Given the description of an element on the screen output the (x, y) to click on. 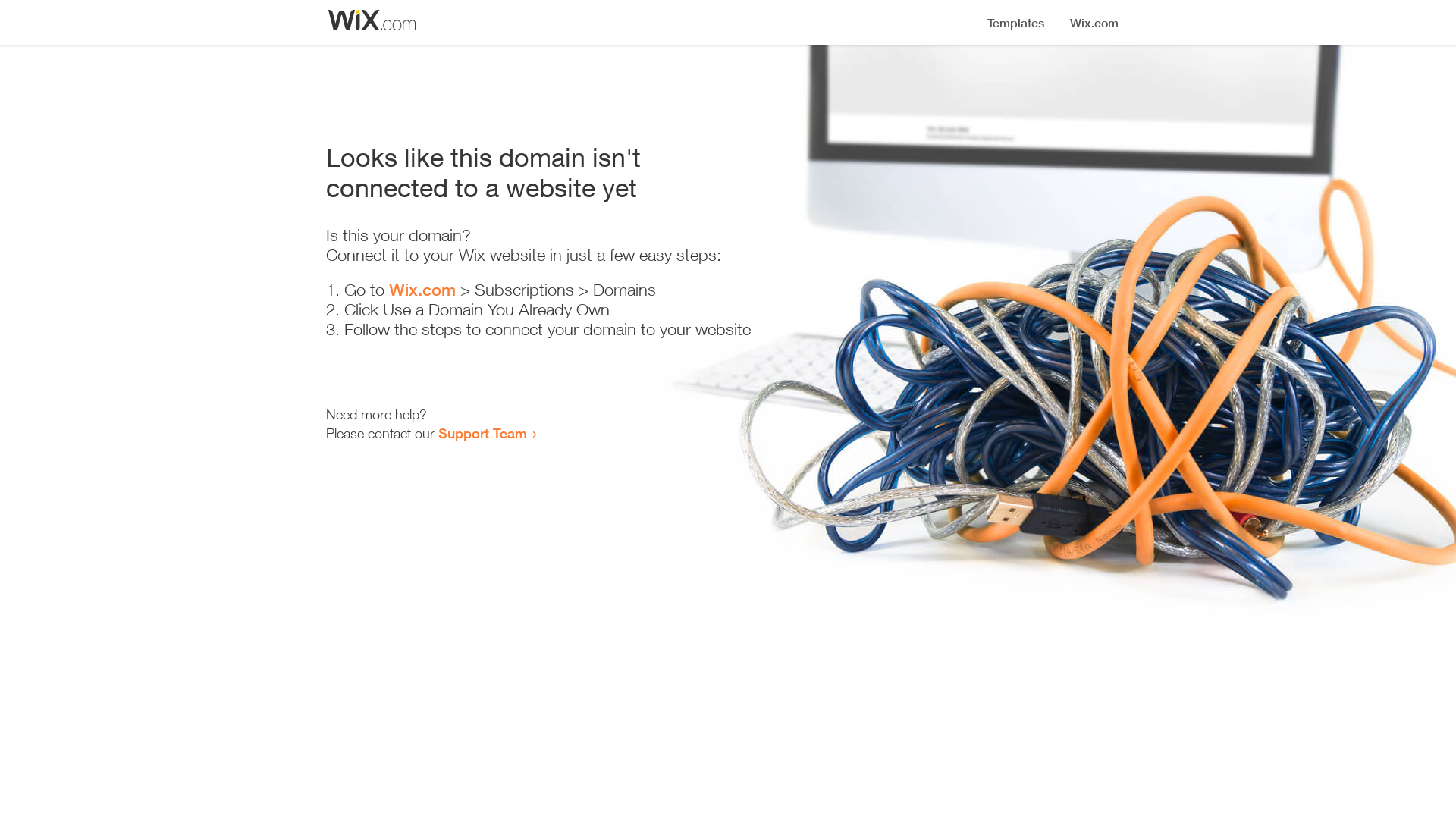
Support Team Element type: text (482, 432)
Wix.com Element type: text (422, 289)
